Given the description of an element on the screen output the (x, y) to click on. 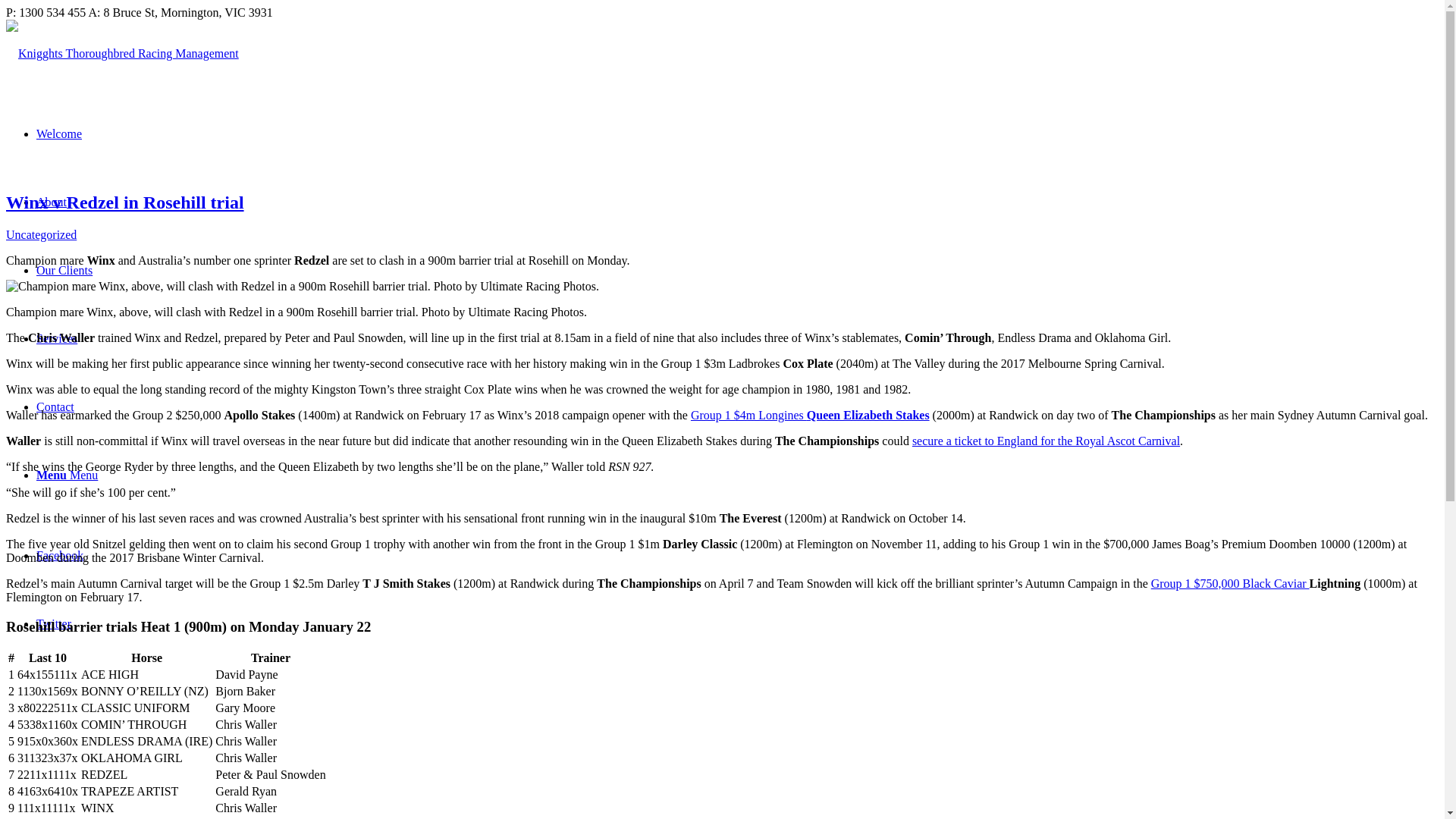
Welcome (58, 133)
Twitter (53, 623)
Permanent Link: Winx v Redzel in Rosehill trial (124, 202)
Facebook (59, 554)
secure a ticket to England for the Royal Ascot Carnival (1045, 440)
Winx v Redzel in Rosehill trial (124, 202)
Our Clients (64, 269)
Twitter (53, 623)
Facebook (59, 554)
Services (56, 338)
Uncategorized (41, 234)
Menu Menu (66, 474)
About (51, 201)
Contact (55, 406)
